Given the description of an element on the screen output the (x, y) to click on. 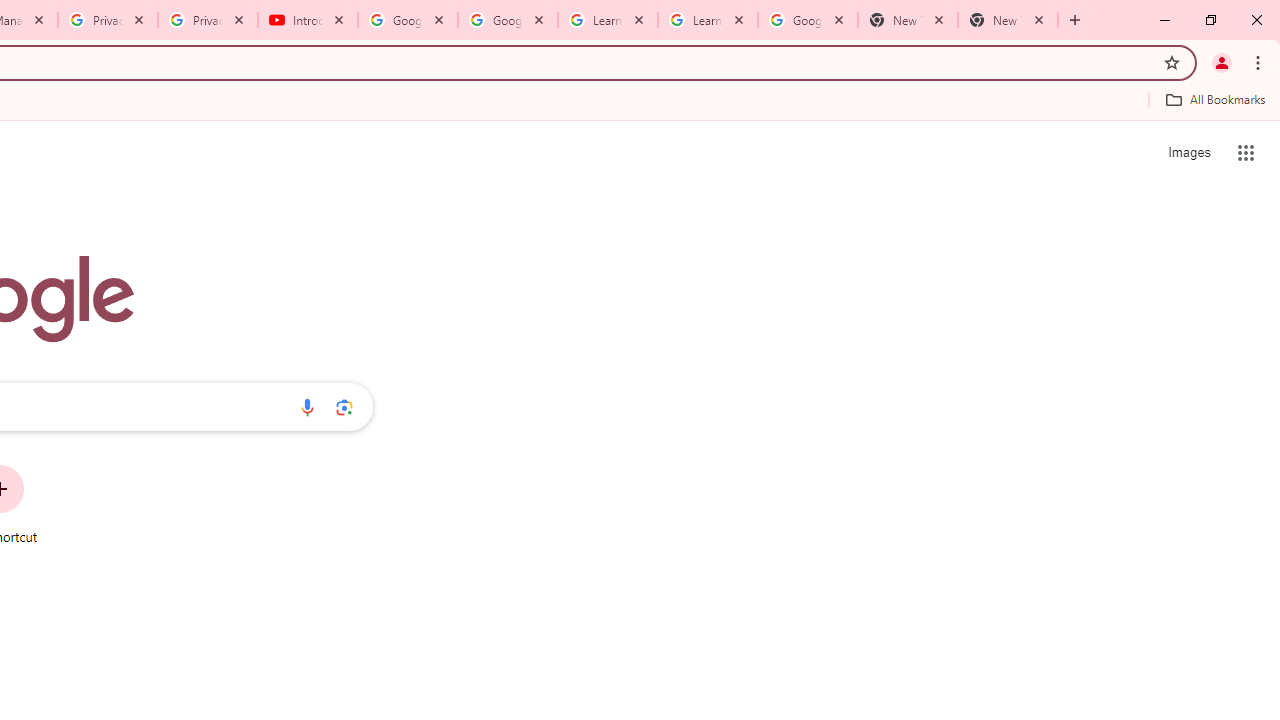
Introduction | Google Privacy Policy - YouTube (308, 20)
Google Account (807, 20)
